Given the description of an element on the screen output the (x, y) to click on. 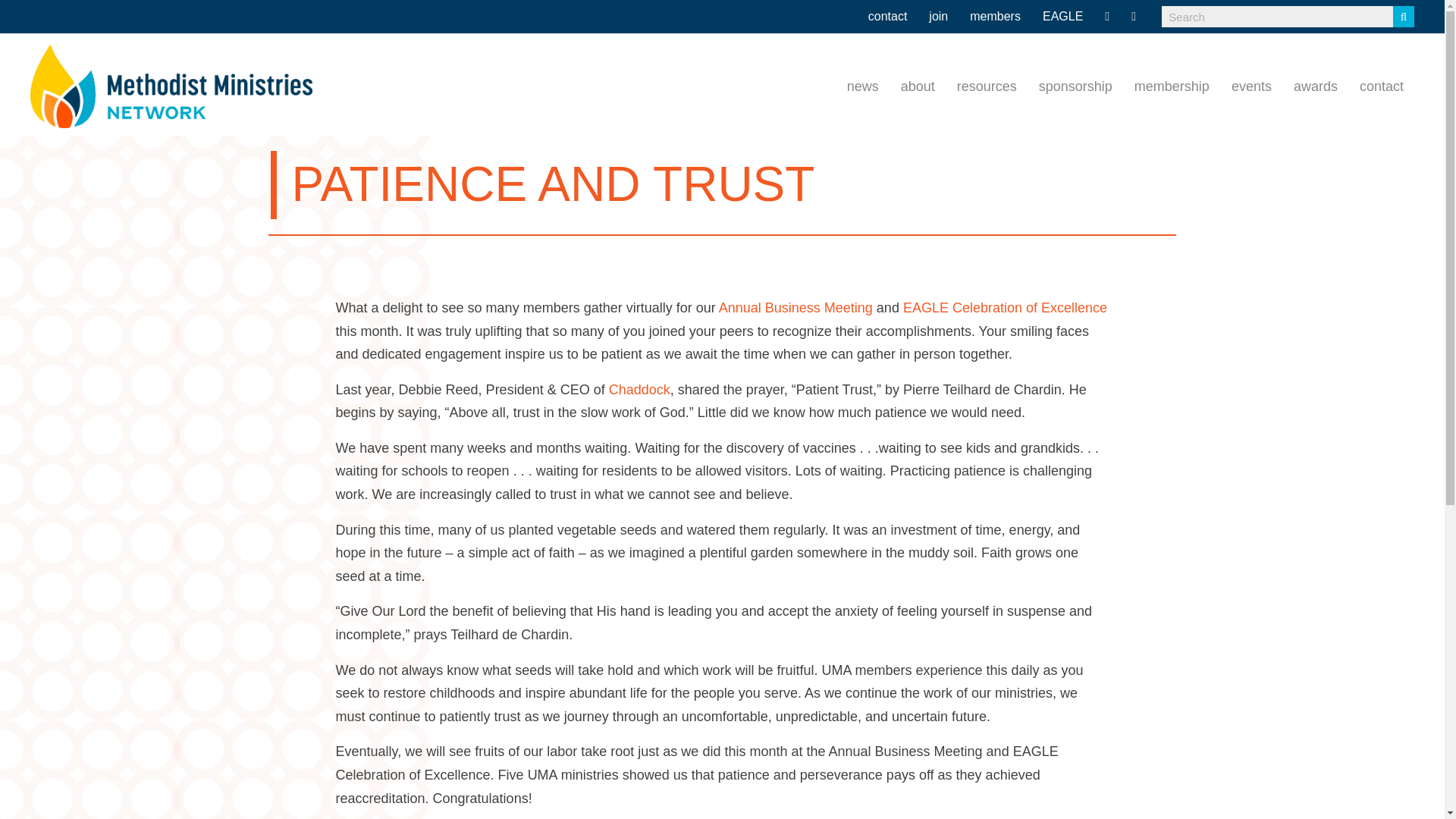
resources (986, 86)
sponsorship (1074, 86)
EAGLE (1062, 16)
membership (1172, 86)
join (938, 16)
members (994, 16)
Search (1277, 16)
news (862, 86)
about (916, 86)
contact (887, 16)
